Given the description of an element on the screen output the (x, y) to click on. 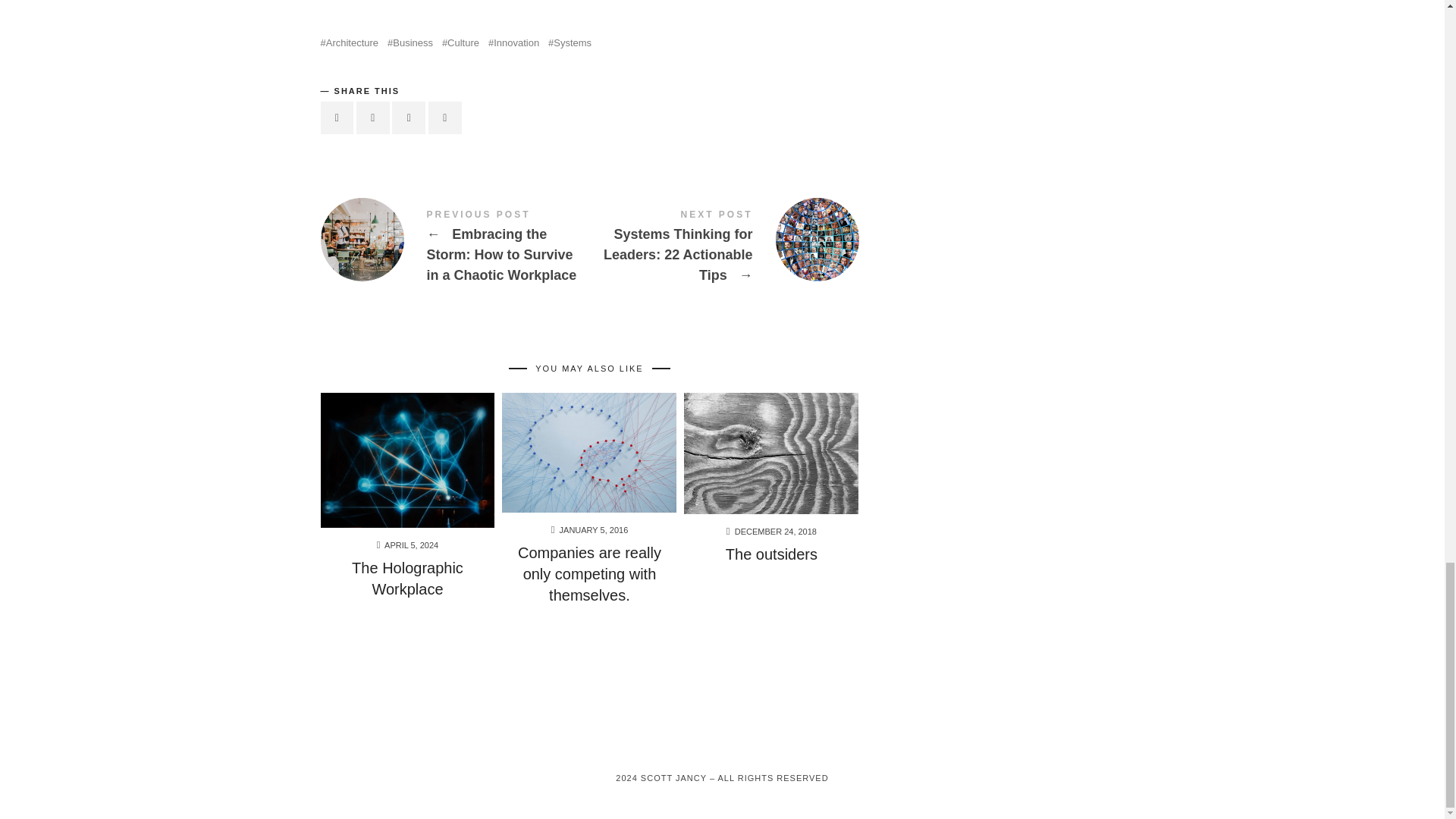
Innovation (512, 42)
Architecture (349, 42)
Systems (569, 42)
Pin it (408, 117)
Business (409, 42)
Email this post to a friend (444, 117)
Culture (460, 42)
Tweet this post to your followers (373, 117)
Share this post on Facebook (336, 117)
